Given the description of an element on the screen output the (x, y) to click on. 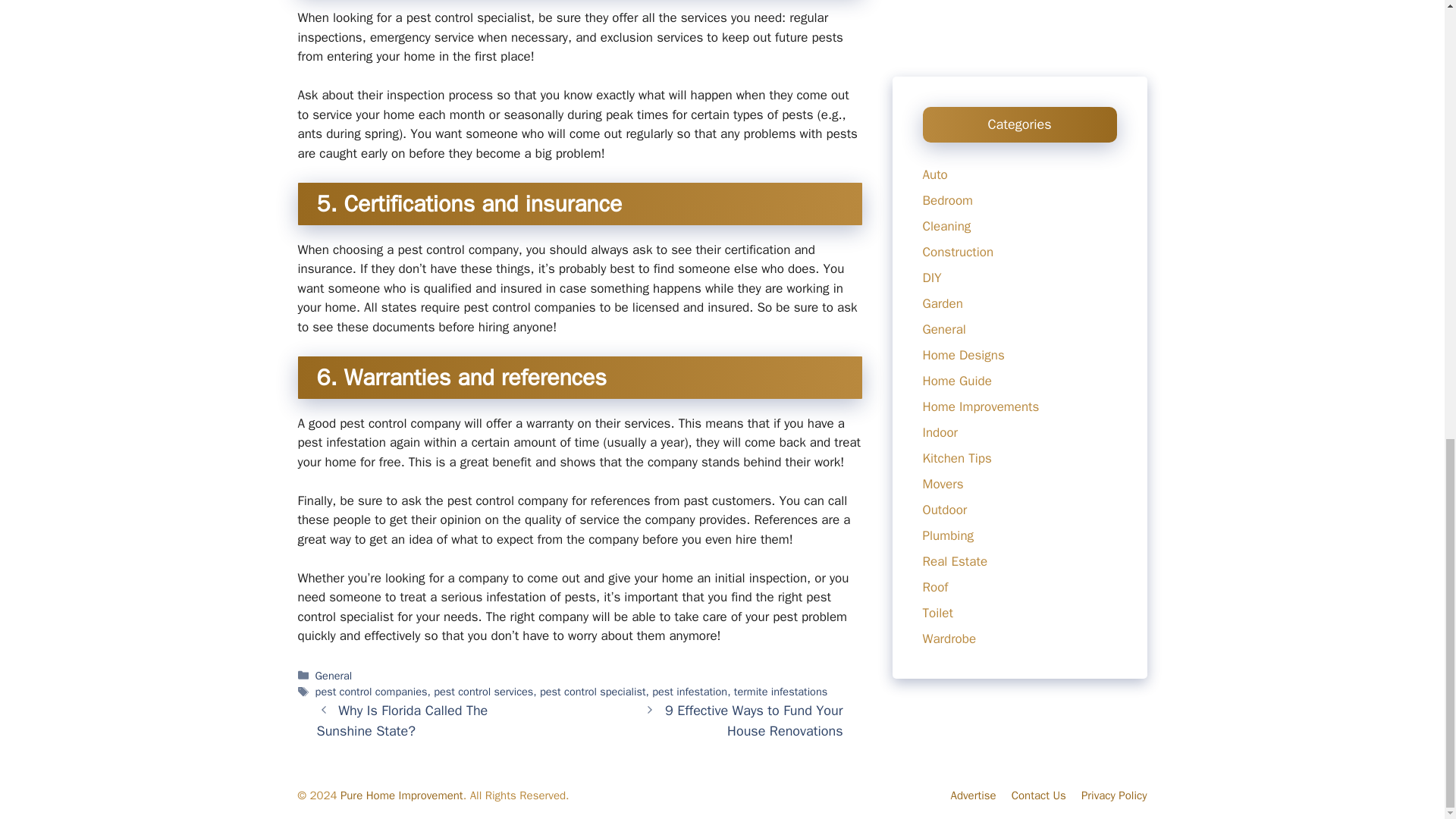
termite infestations (780, 691)
pest control companies (371, 691)
pest control specialist (593, 691)
pest infestation (689, 691)
Why Is Florida Called The Sunshine State? (402, 720)
9 Effective Ways to Fund Your House Renovations (754, 720)
General (333, 675)
pest control services (482, 691)
